Given the description of an element on the screen output the (x, y) to click on. 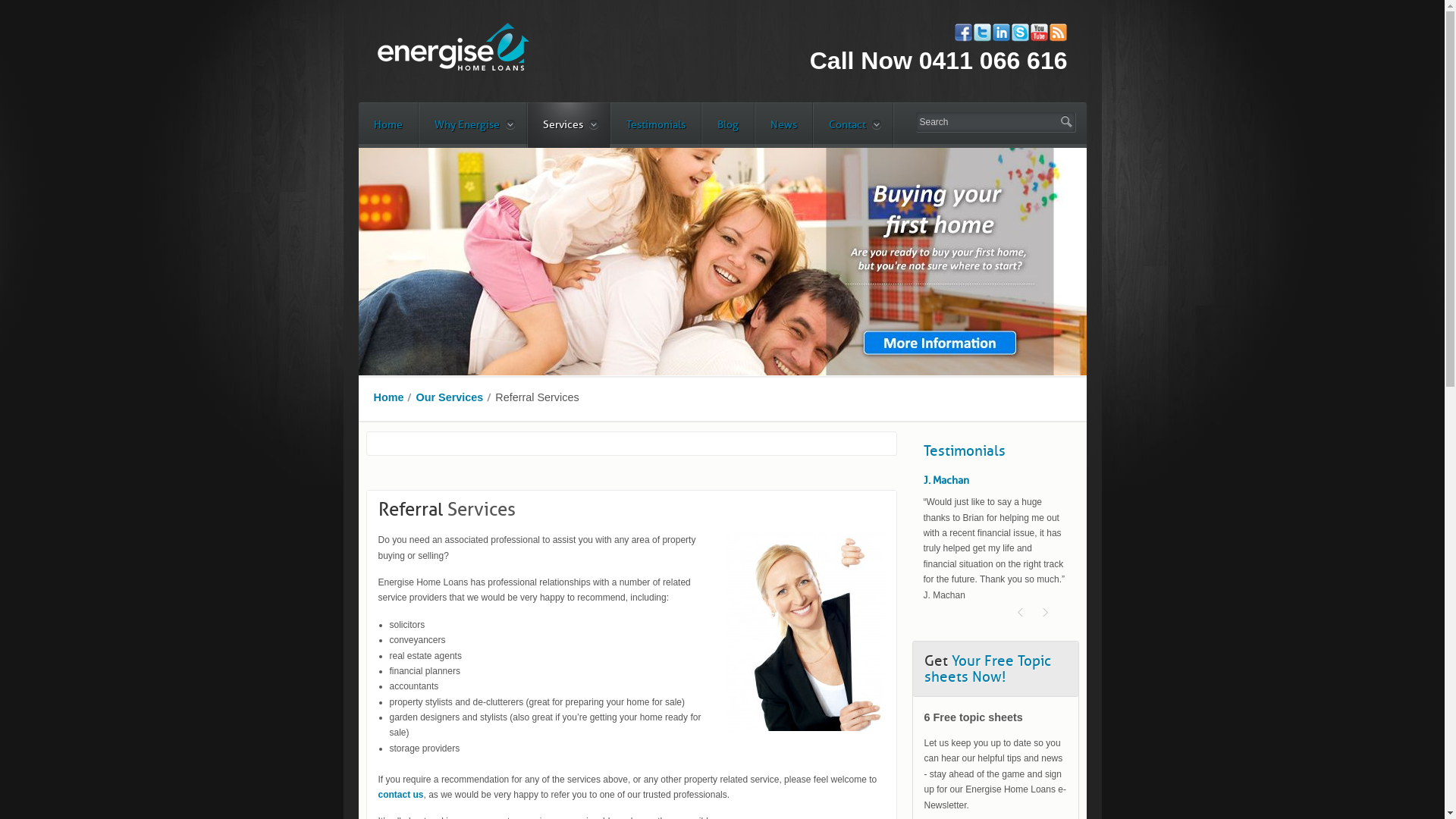
Testimonials Element type: text (655, 124)
Got Skype installed? Call Energise Home Loans now! Element type: hover (1019, 31)
Subscribe to the Energise Home Loans Blog! Element type: hover (1057, 31)
Home Element type: text (387, 124)
Join Energise Home Loans on Facebook Element type: hover (962, 31)
Services Element type: text (568, 124)
Follow Energise Home Loans on Twitter Element type: hover (981, 31)
Our Services Element type: text (448, 397)
Home Element type: text (388, 397)
News Element type: text (783, 124)
Blog Element type: text (727, 124)
Connect with Brian Rusten on LinkedIn Element type: hover (1000, 31)
Watch Energise Home Loans on YouTube! Element type: hover (1038, 31)
Contact Element type: text (851, 124)
Why Energise Element type: text (471, 124)
contact us Element type: text (400, 794)
